Given the description of an element on the screen output the (x, y) to click on. 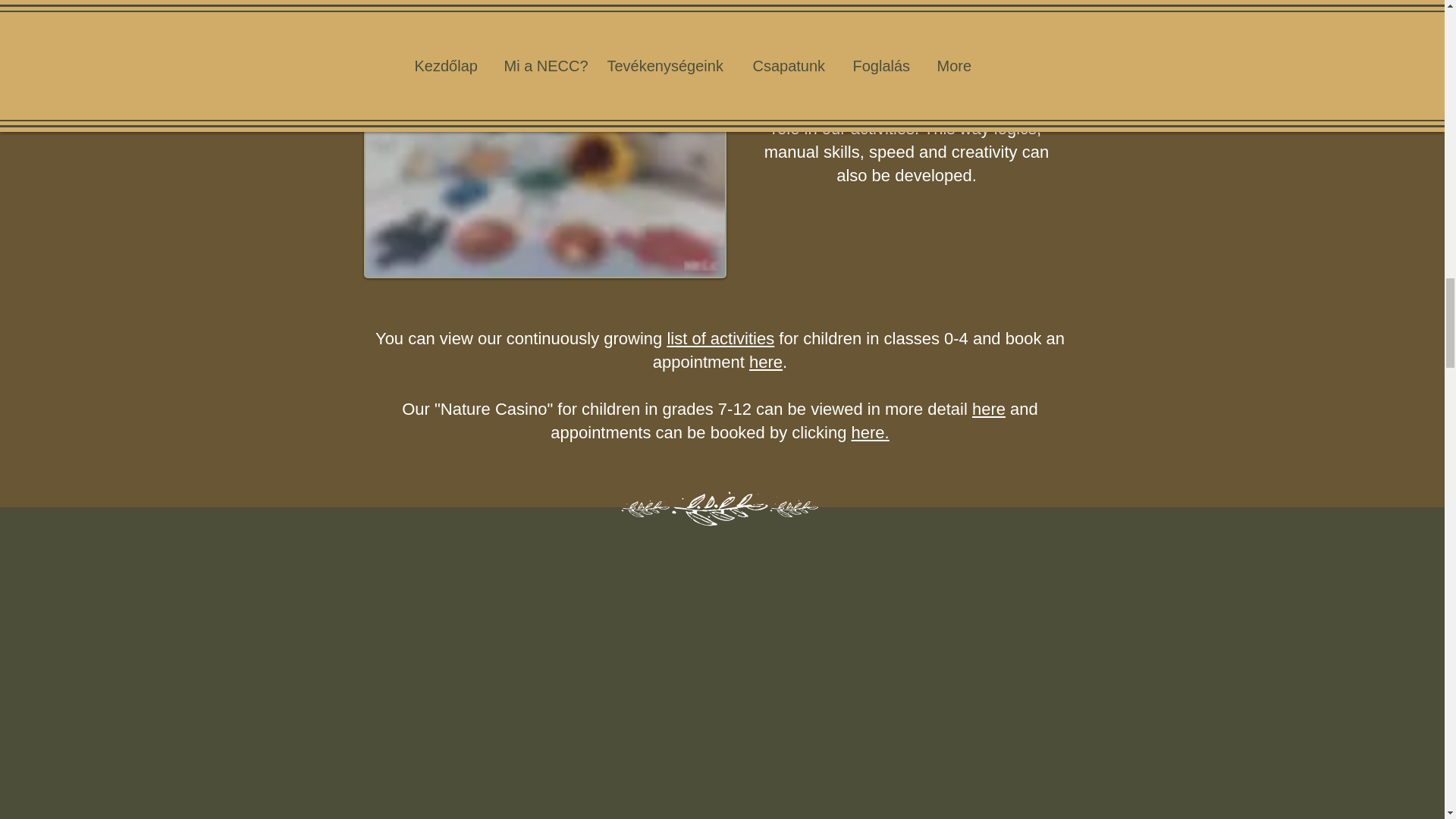
here (989, 408)
list of activities (720, 338)
WhatsApp Image 2024-02-19 at 17.06.53.jp (545, 141)
here (766, 361)
here. (870, 432)
